Given the description of an element on the screen output the (x, y) to click on. 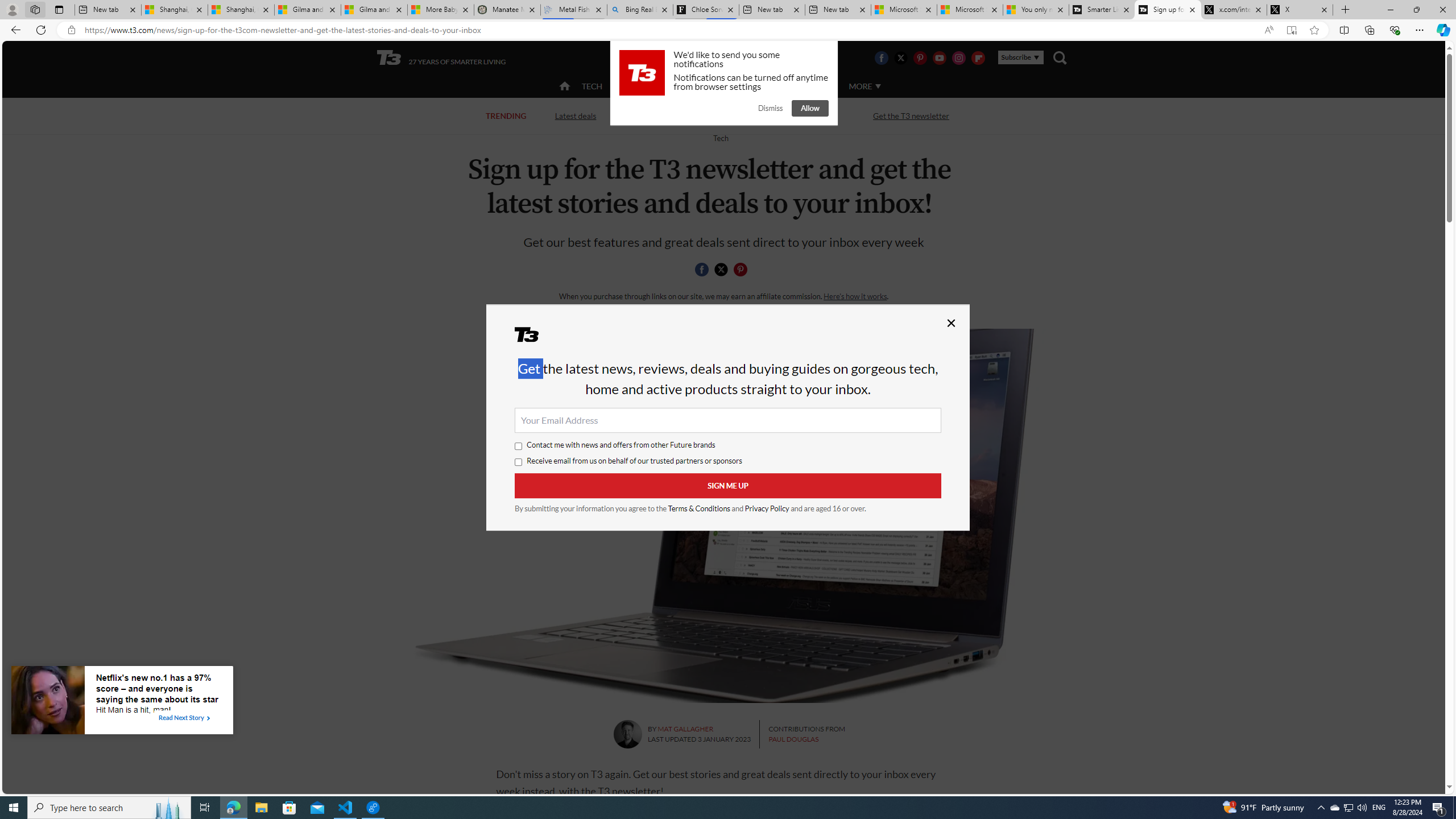
HOME LIVING (701, 85)
Class: icon-svg (739, 269)
Latest deals (575, 115)
Subscribe (1020, 56)
Visit us on Instagram (958, 57)
home (564, 86)
MAT GALLAGHER (685, 728)
Visit us on Flipboard (978, 57)
AUTO (815, 85)
Contact me with news and offers from other Future brands (518, 446)
T3 27 YEARS OF SMARTER LIVING (441, 57)
